Given the description of an element on the screen output the (x, y) to click on. 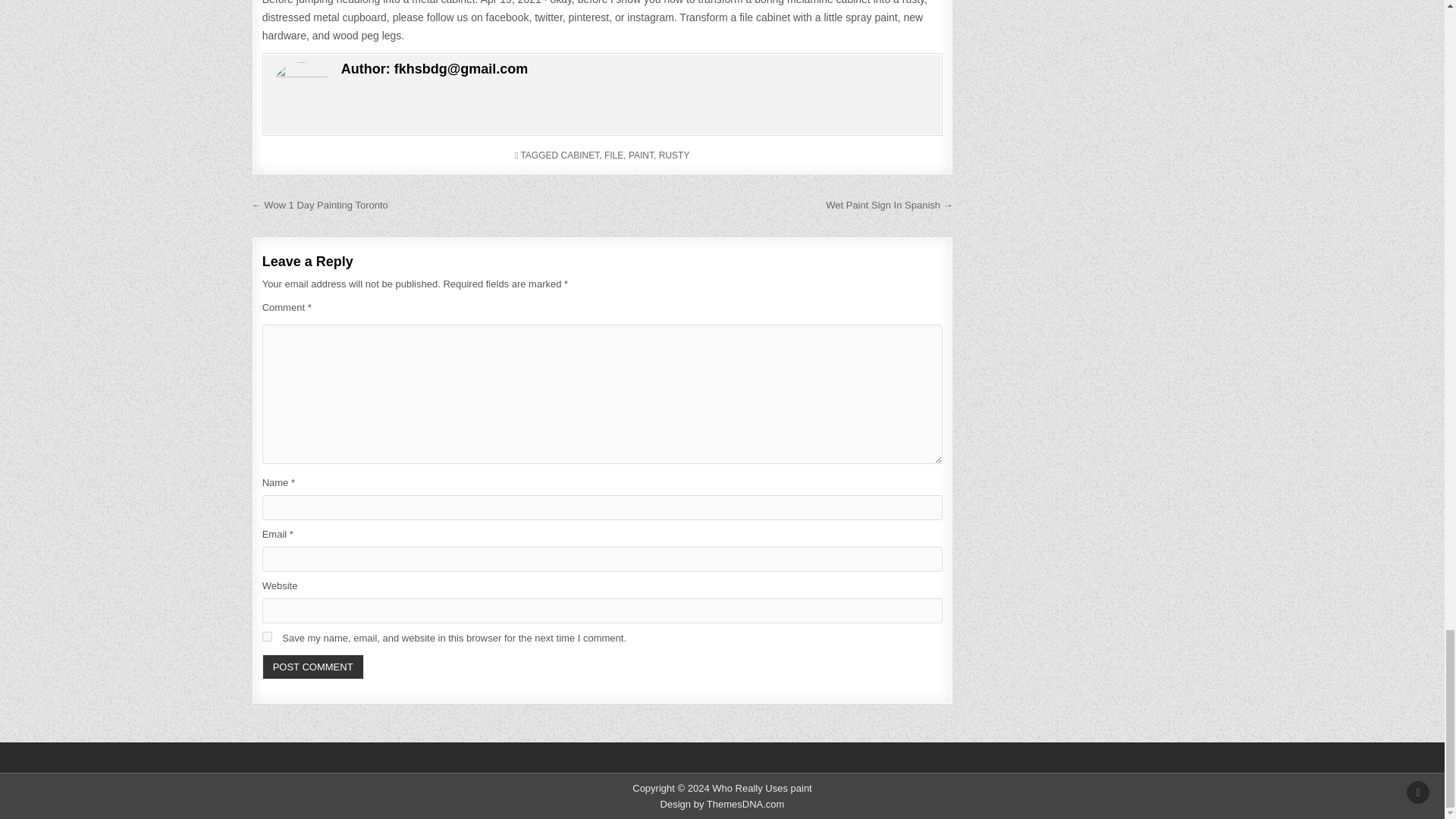
FILE (613, 154)
yes (267, 636)
CABINET (579, 154)
Post Comment (313, 666)
Post Comment (313, 666)
Design by ThemesDNA.com (722, 803)
PAINT (640, 154)
RUSTY (674, 154)
